Given the description of an element on the screen output the (x, y) to click on. 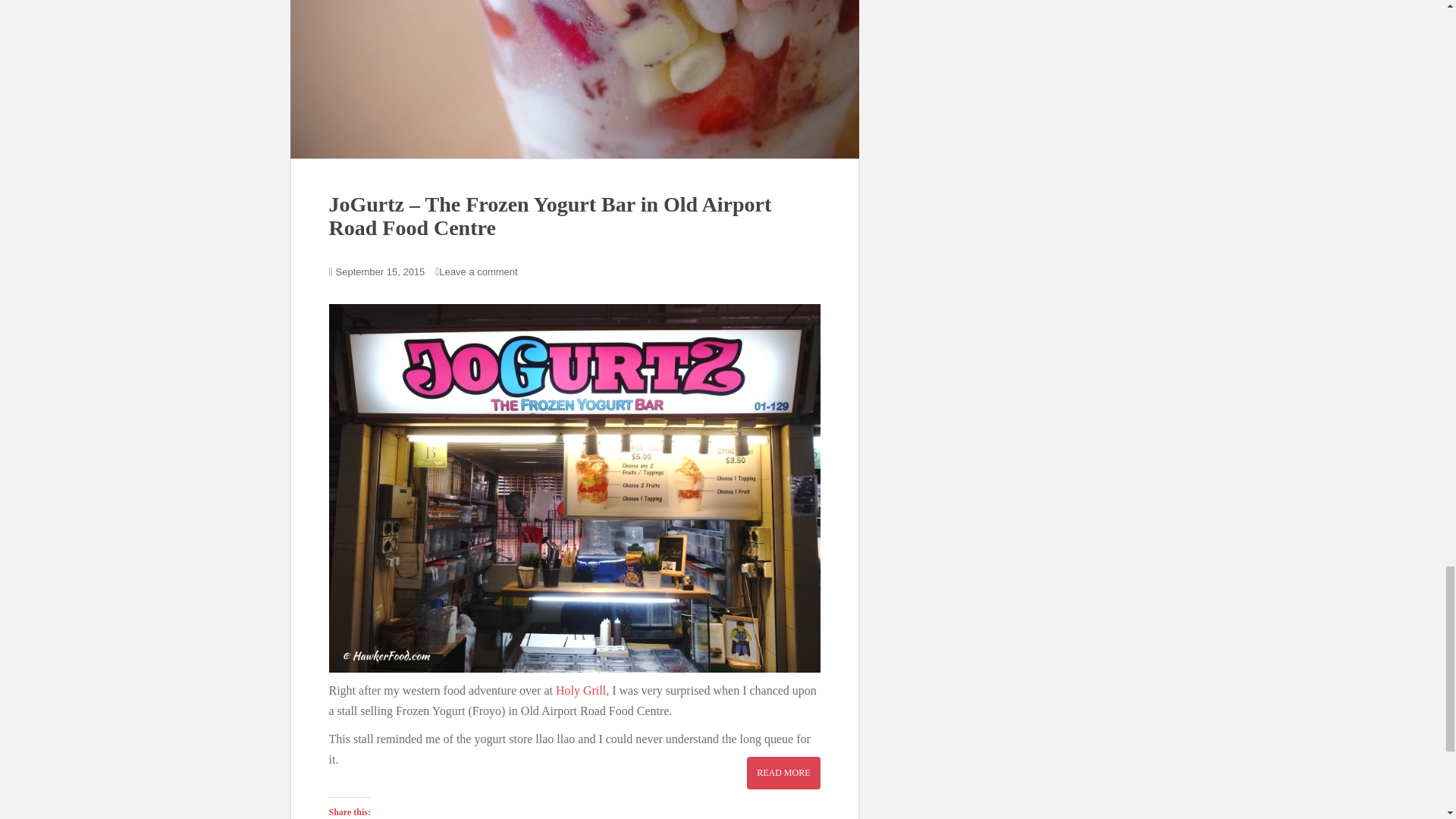
September 15, 2015 (380, 271)
READ MORE (782, 772)
Leave a comment (481, 271)
Holy Grill (580, 689)
